Given the description of an element on the screen output the (x, y) to click on. 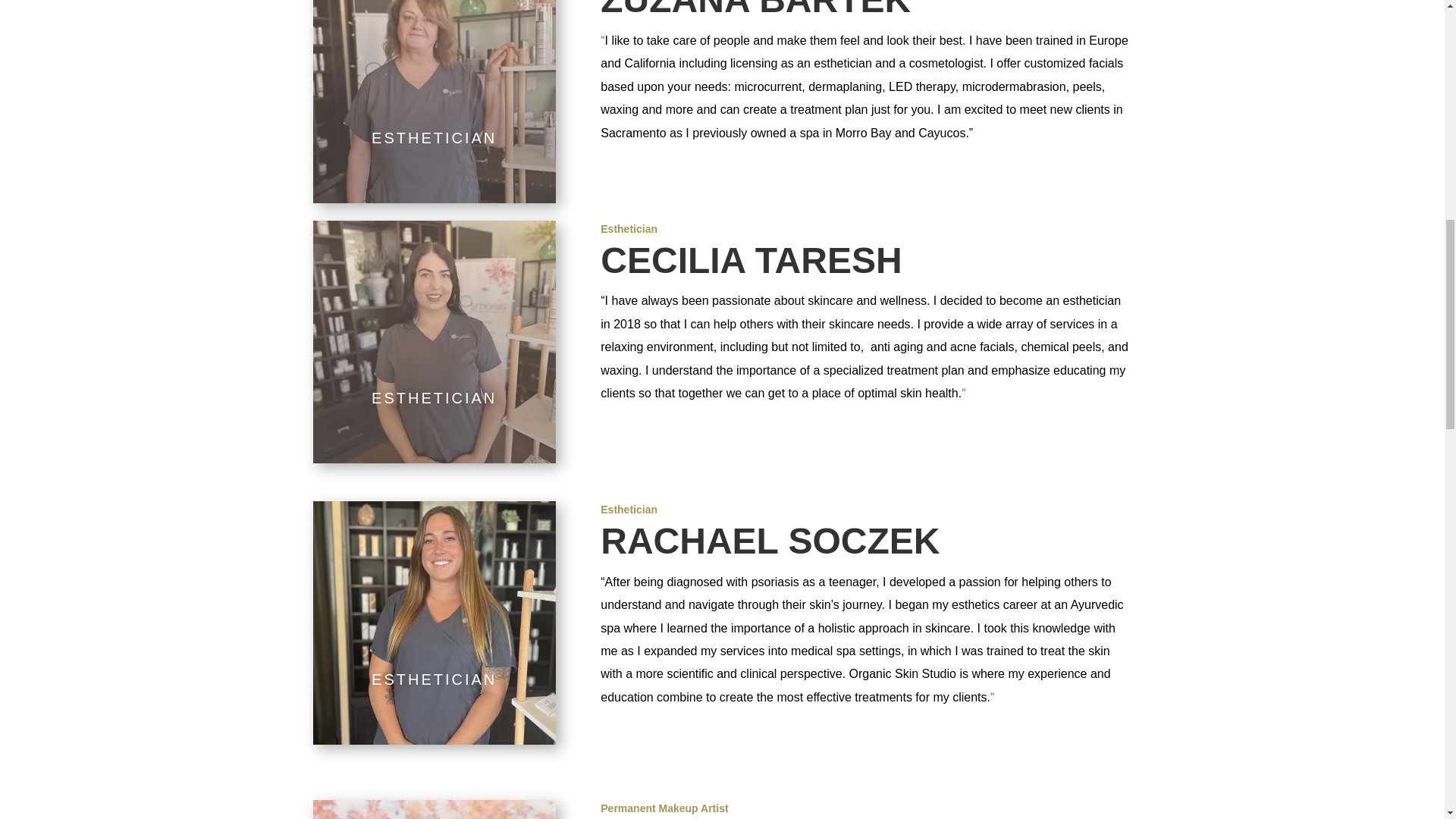
Zuzana-grad-lt (433, 101)
Cecelia-grad-lt (433, 341)
rachelcropped (433, 622)
Maryam-grad-lt (433, 809)
